Given the description of an element on the screen output the (x, y) to click on. 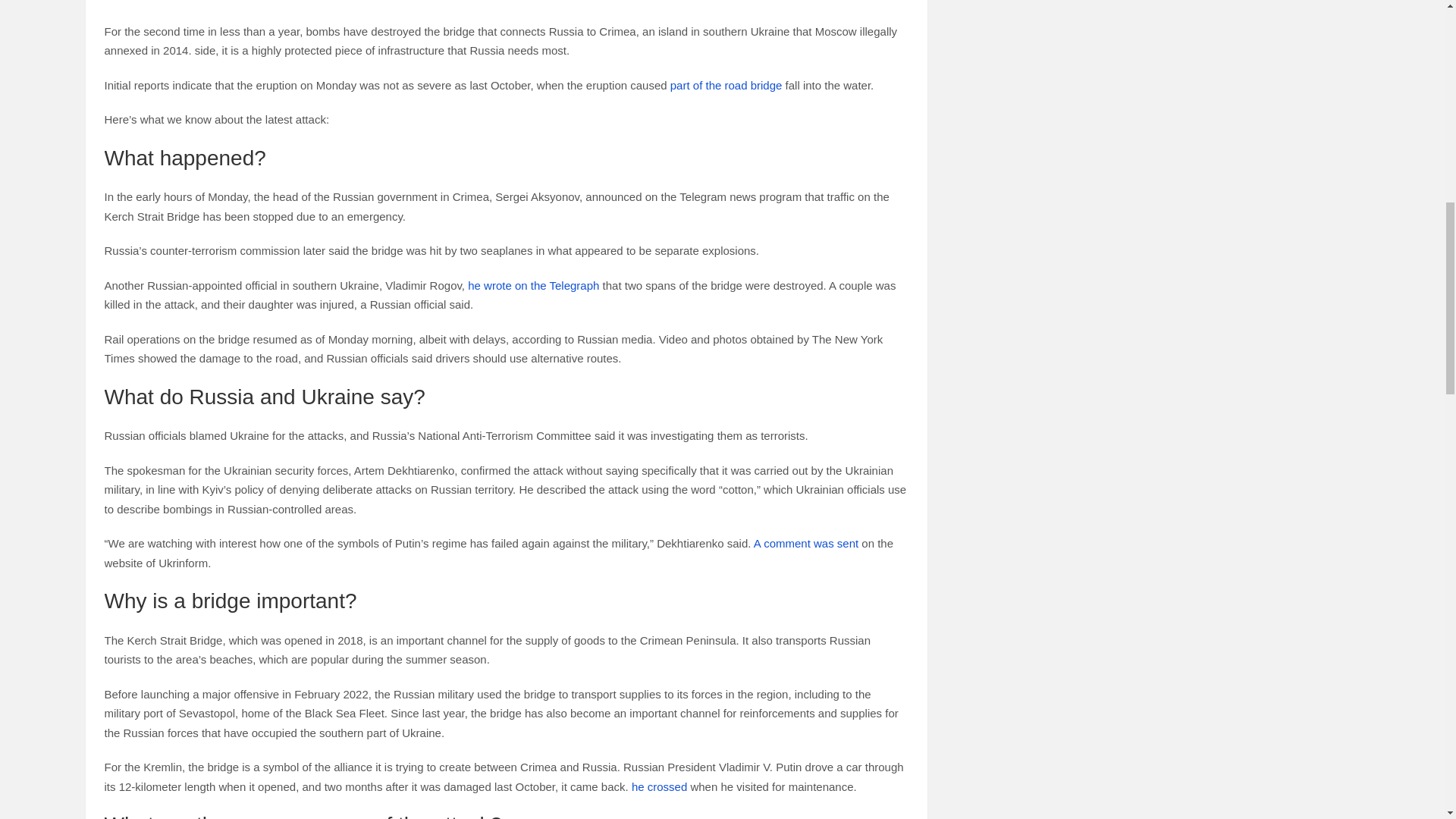
he crossed (659, 786)
part of the road bridge (726, 84)
A comment was sent (806, 543)
he wrote on the Telegraph (532, 285)
